Given the description of an element on the screen output the (x, y) to click on. 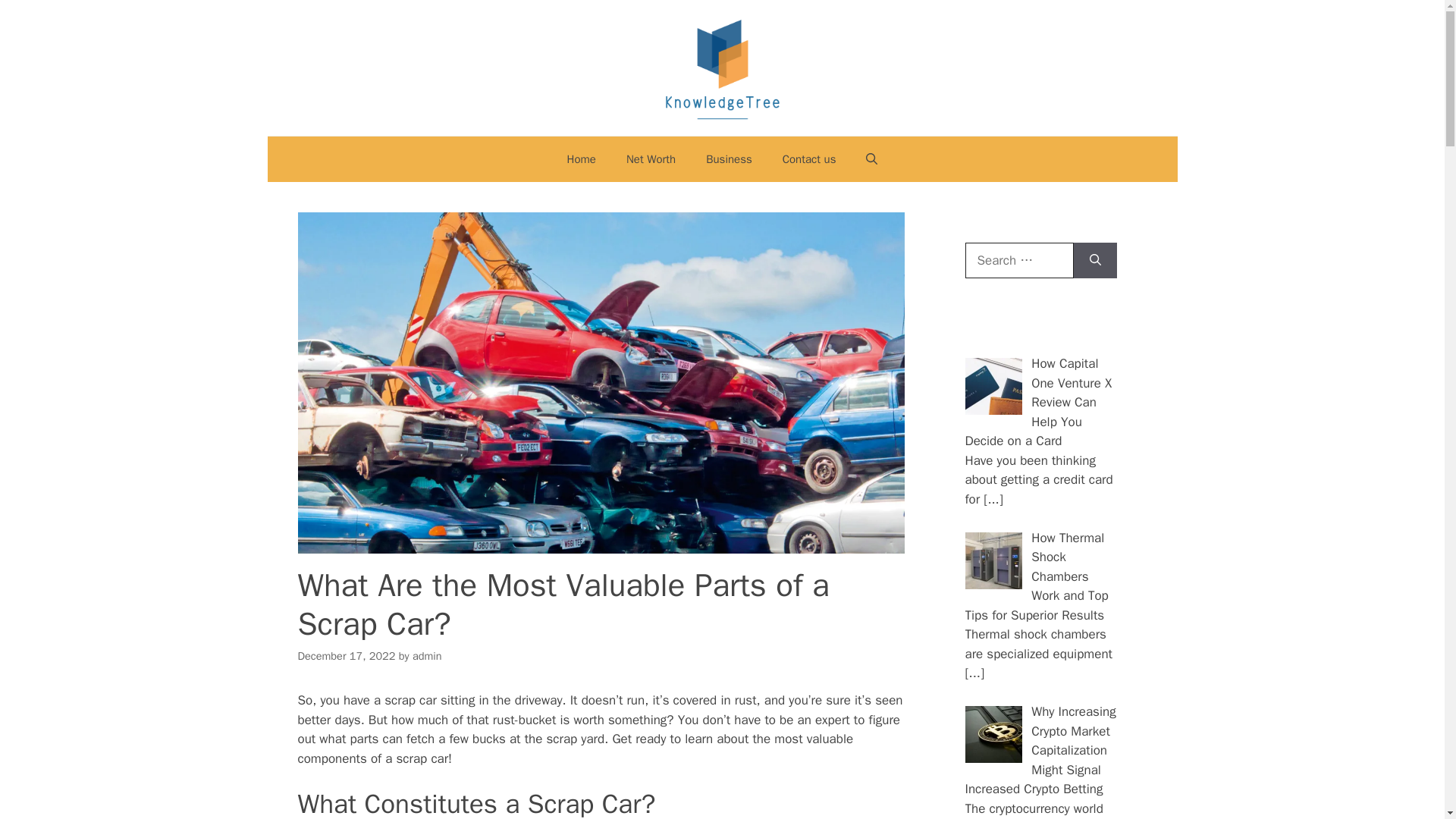
Contact us (809, 158)
Net Worth (650, 158)
Search for: (1018, 260)
Home (581, 158)
admin (427, 655)
View all posts by admin (427, 655)
Business (728, 158)
